Given the description of an element on the screen output the (x, y) to click on. 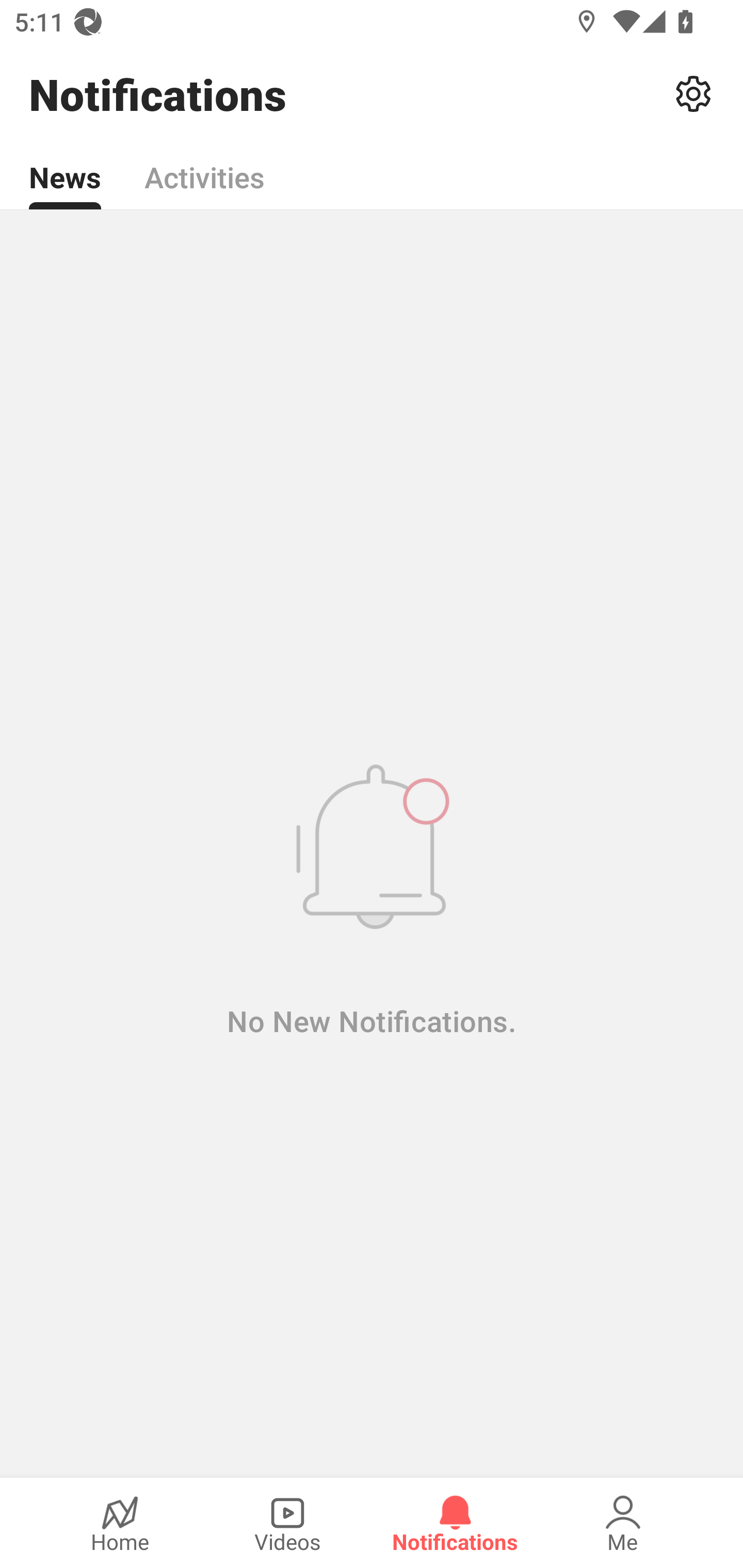
Activities (204, 166)
Home (119, 1522)
Videos (287, 1522)
Me (622, 1522)
